Given the description of an element on the screen output the (x, y) to click on. 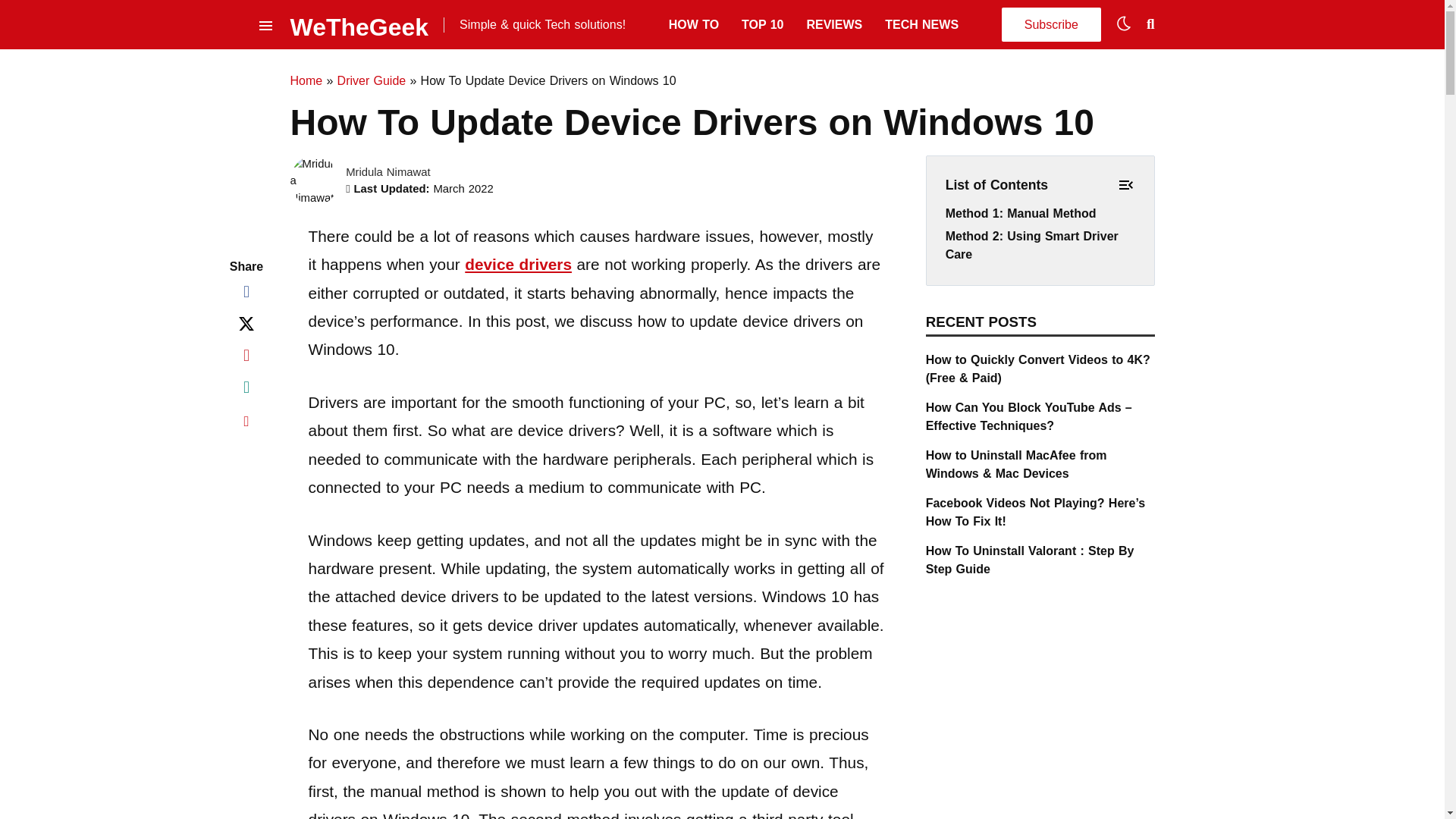
TOP 10 (762, 24)
REVIEWS (833, 24)
HOW TO (693, 24)
Mridula Nimawat (388, 172)
WeTheGeek (358, 24)
Home (305, 80)
TECH NEWS (921, 24)
Driver Guide (371, 80)
